Given the description of an element on the screen output the (x, y) to click on. 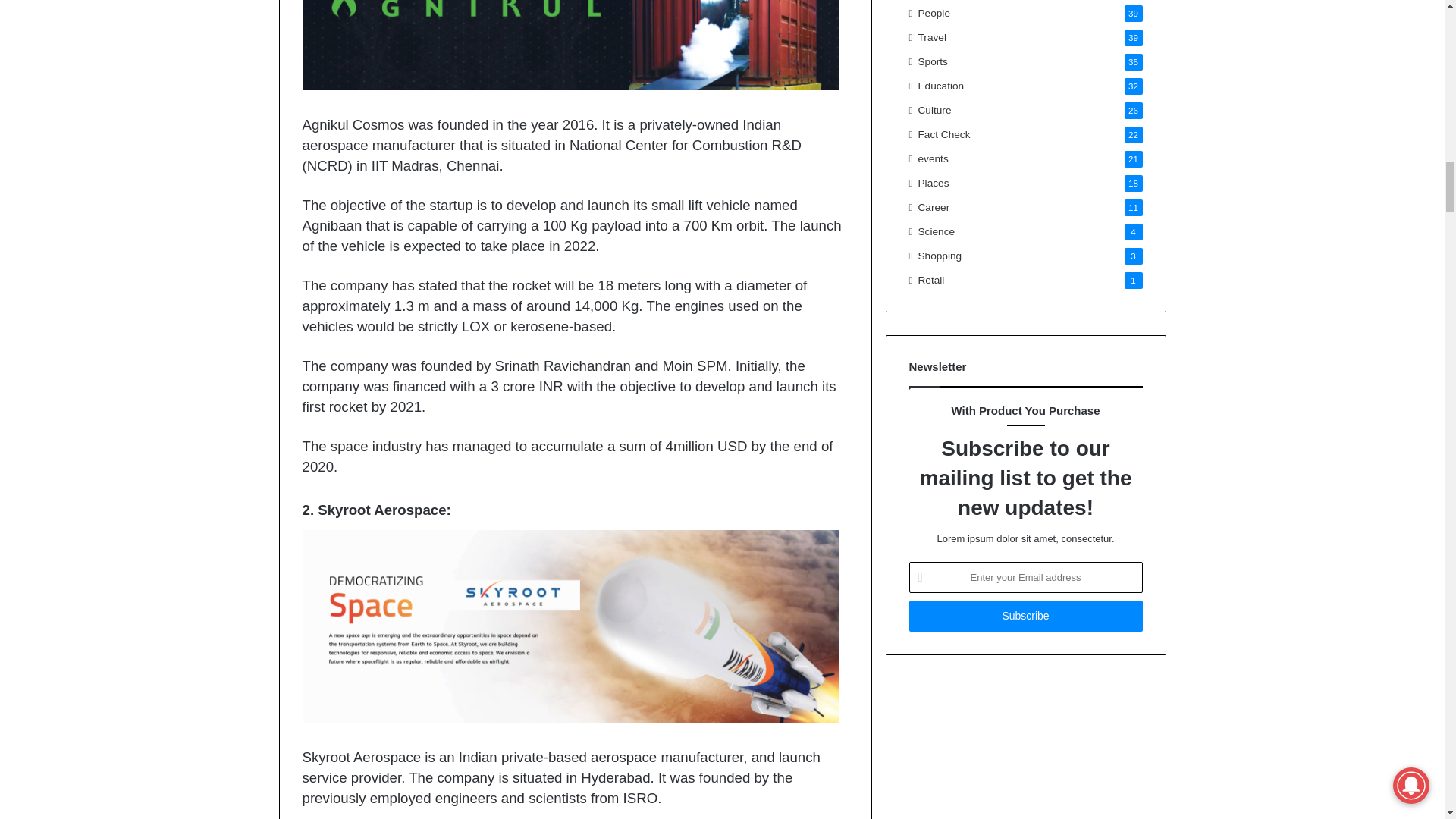
Subscribe (1025, 615)
